Given the description of an element on the screen output the (x, y) to click on. 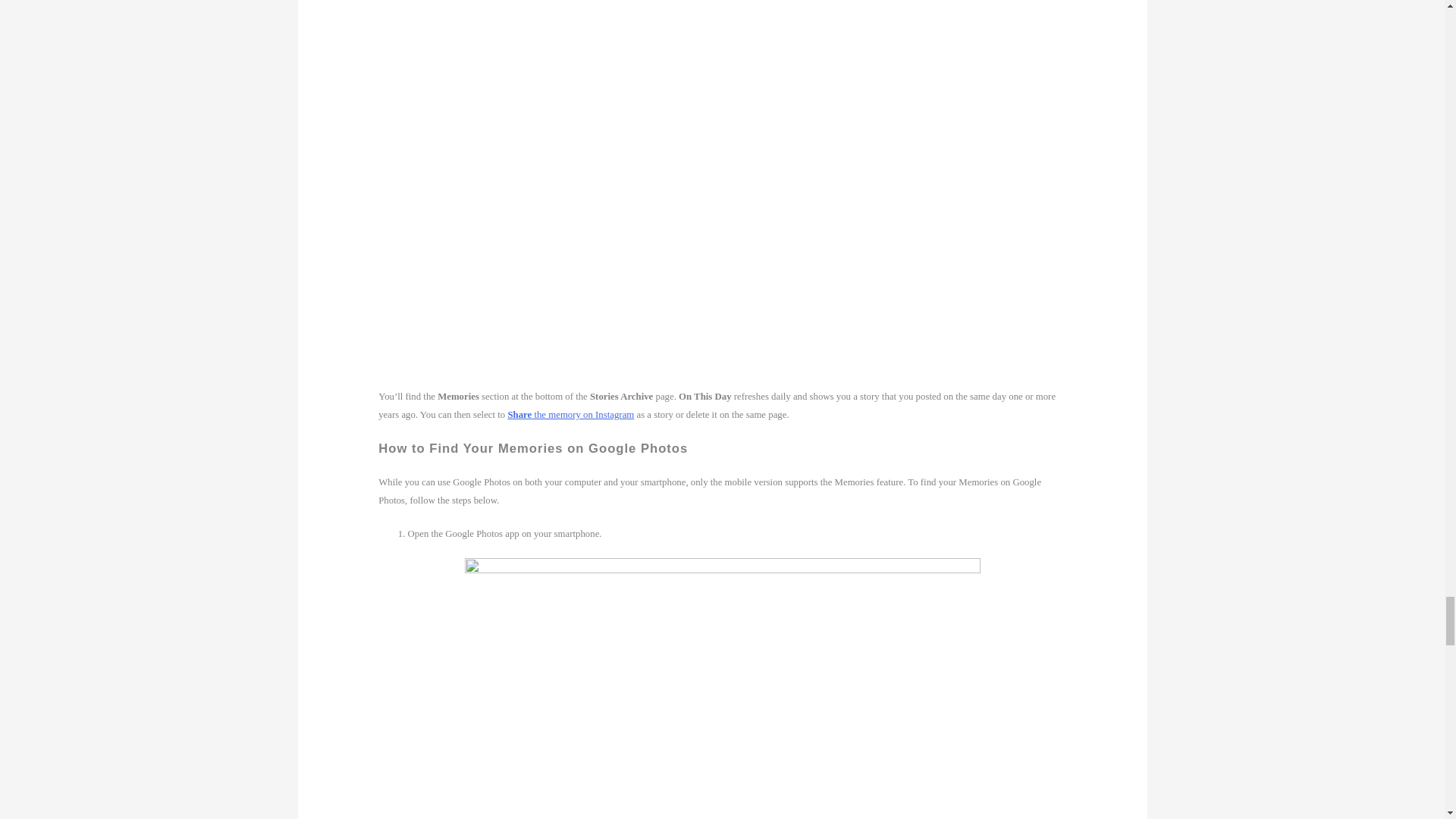
Share the memory on Instagram (569, 414)
